Given the description of an element on the screen output the (x, y) to click on. 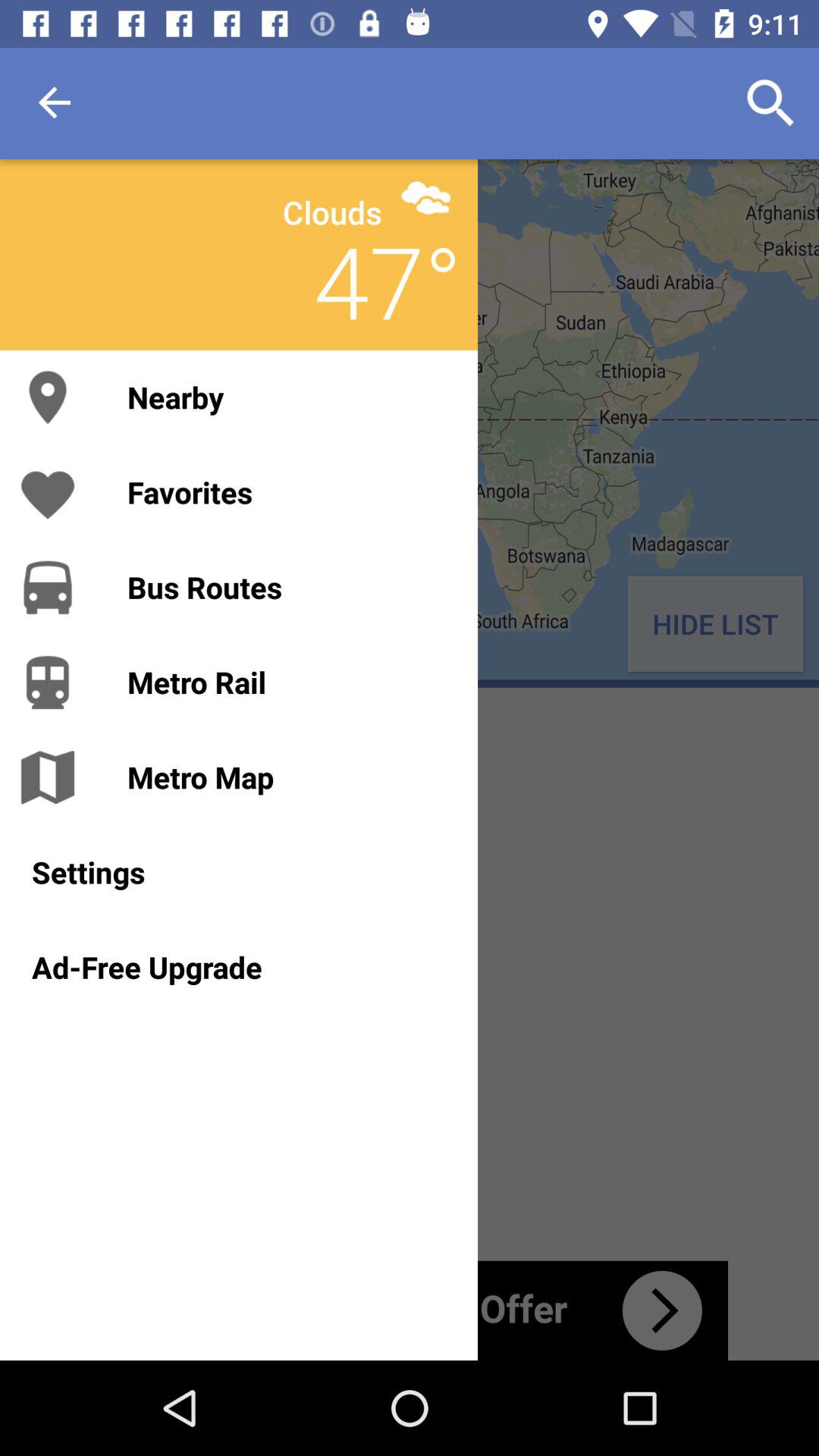
jump until the hide list item (715, 623)
